Given the description of an element on the screen output the (x, y) to click on. 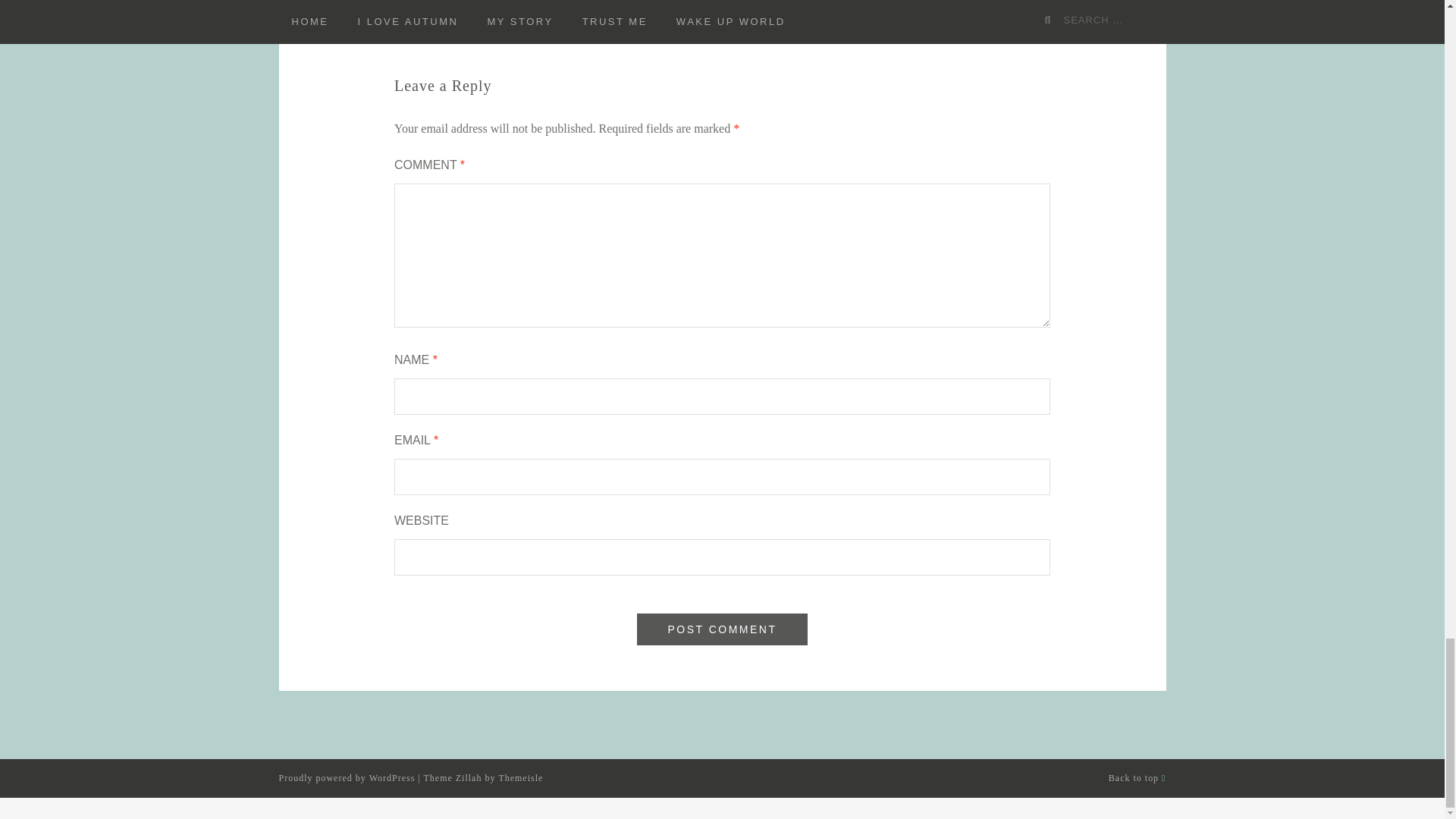
Post Comment (721, 629)
Back to top (1137, 777)
Post Comment (721, 629)
WordPress (391, 777)
Themeisle (520, 777)
